Given the description of an element on the screen output the (x, y) to click on. 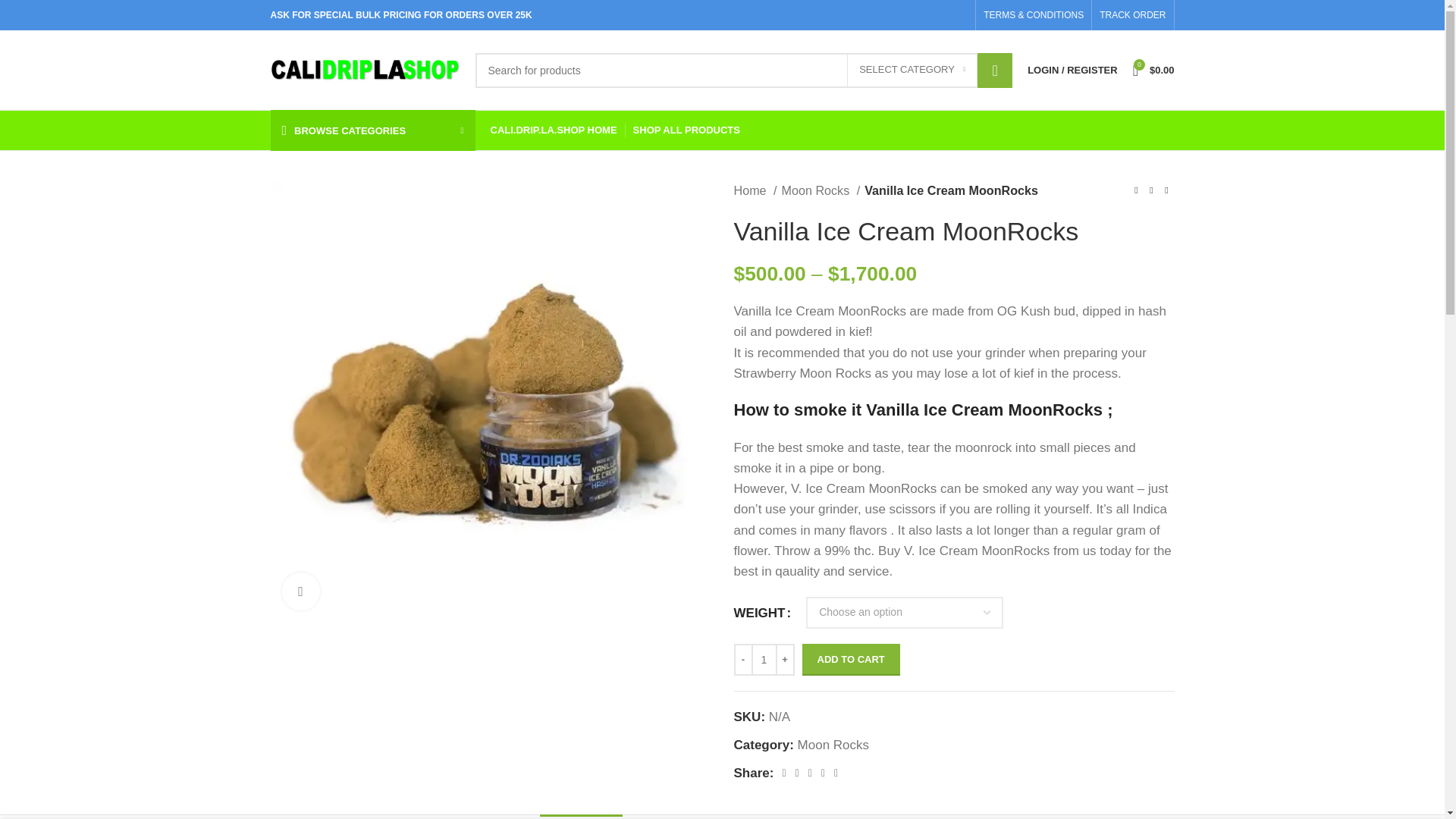
CALI.DRIP.LA.SHOP HOME (552, 130)
TRACK ORDER (1132, 15)
Search for products (742, 70)
SEARCH (993, 70)
Shopping cart (1153, 69)
SHOP ALL PRODUCTS (686, 130)
Moon Rocks (820, 190)
Home (755, 190)
SELECT CATEGORY (911, 70)
SELECT CATEGORY (911, 70)
